Given the description of an element on the screen output the (x, y) to click on. 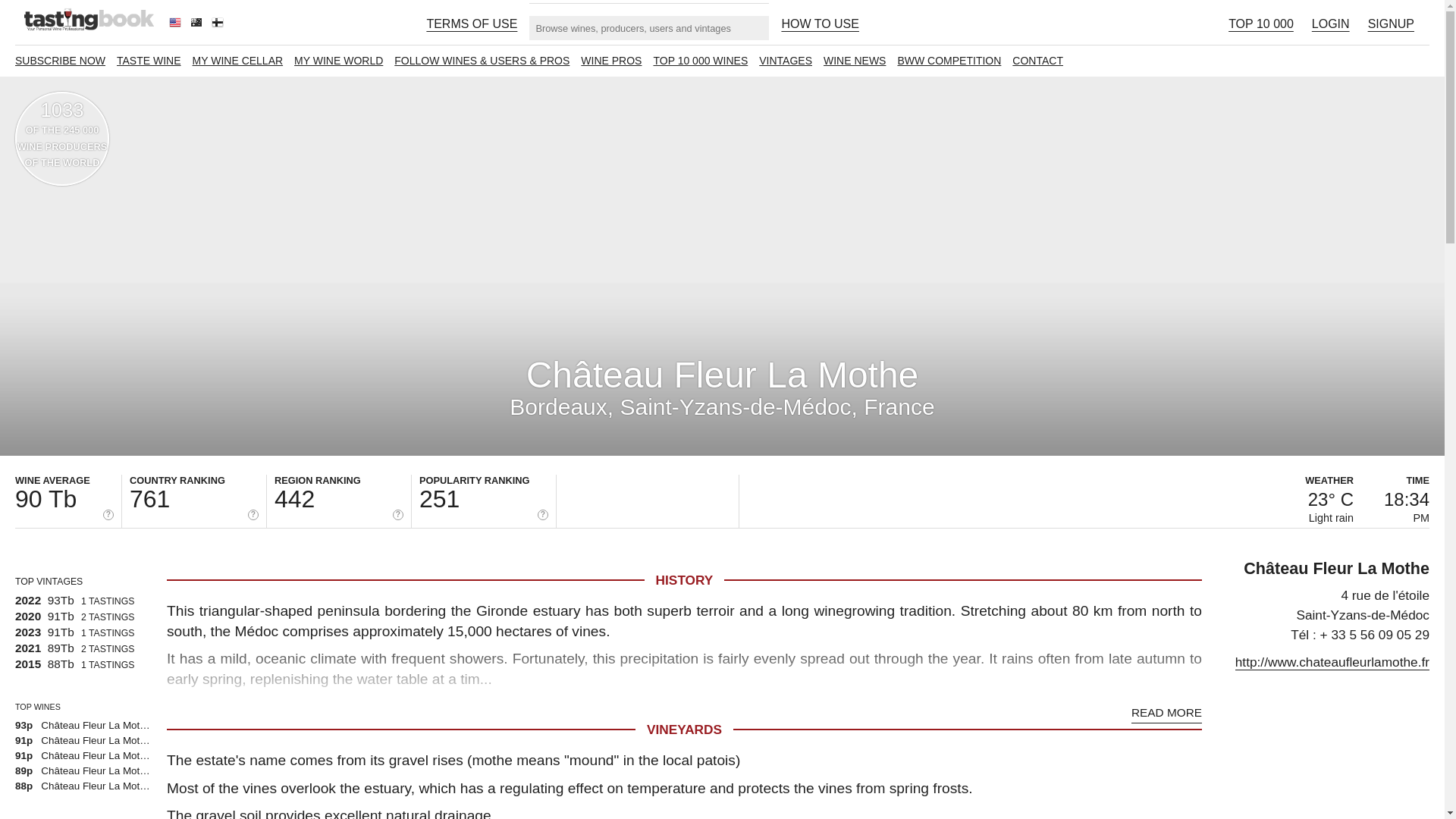
BWW COMPETITION (948, 60)
WINE NEWS (854, 60)
LOGIN (1330, 24)
WINE PROS (611, 60)
How popular is the producer among our users (542, 514)
TASTE WINE (148, 60)
Suomi (219, 24)
SUBSCRIBE NOW (59, 60)
MY WINE WORLD (338, 60)
TERMS OF USE (471, 24)
